Given the description of an element on the screen output the (x, y) to click on. 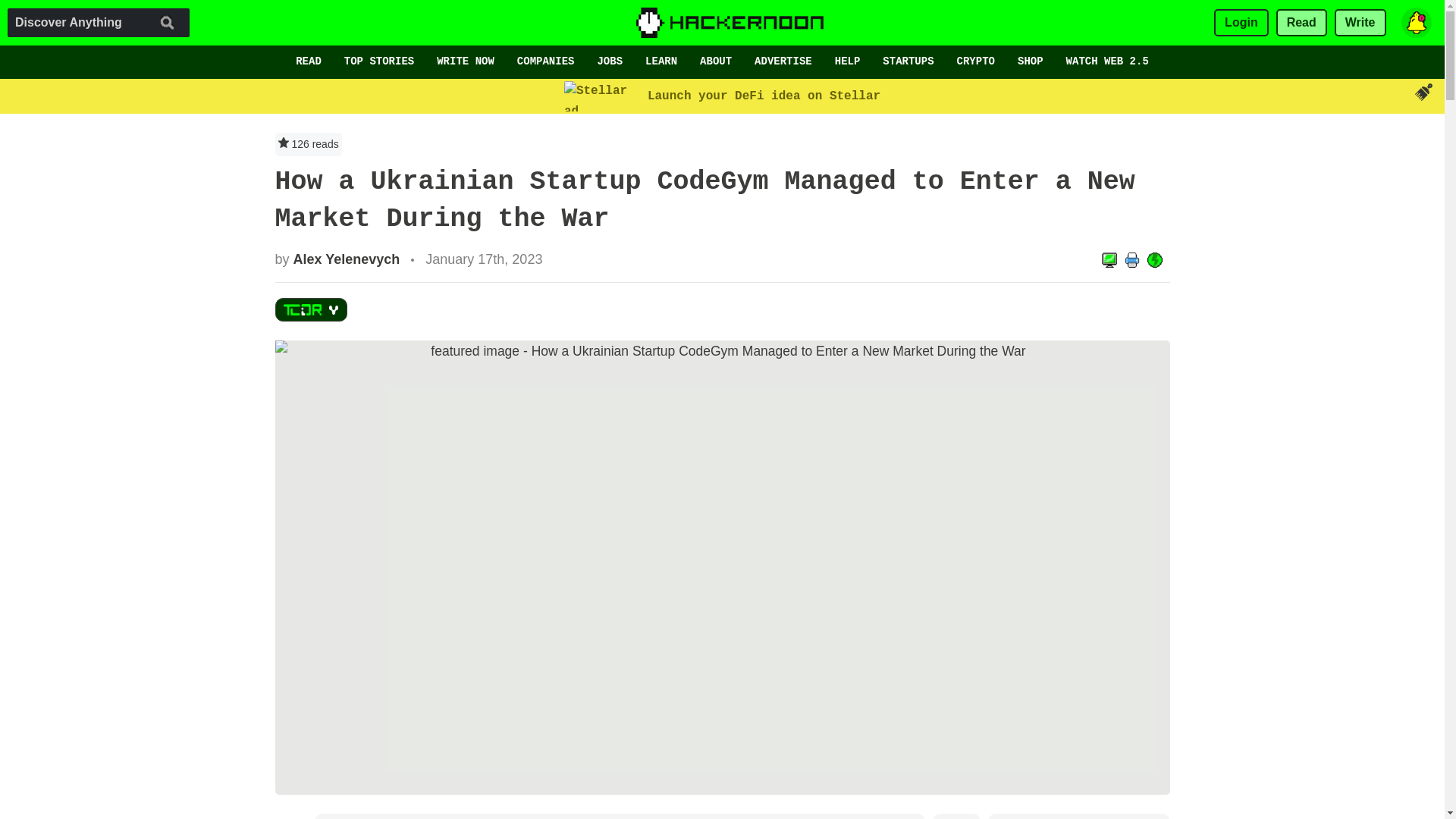
Write (1360, 22)
Login (1241, 22)
Read (1301, 22)
